Given the description of an element on the screen output the (x, y) to click on. 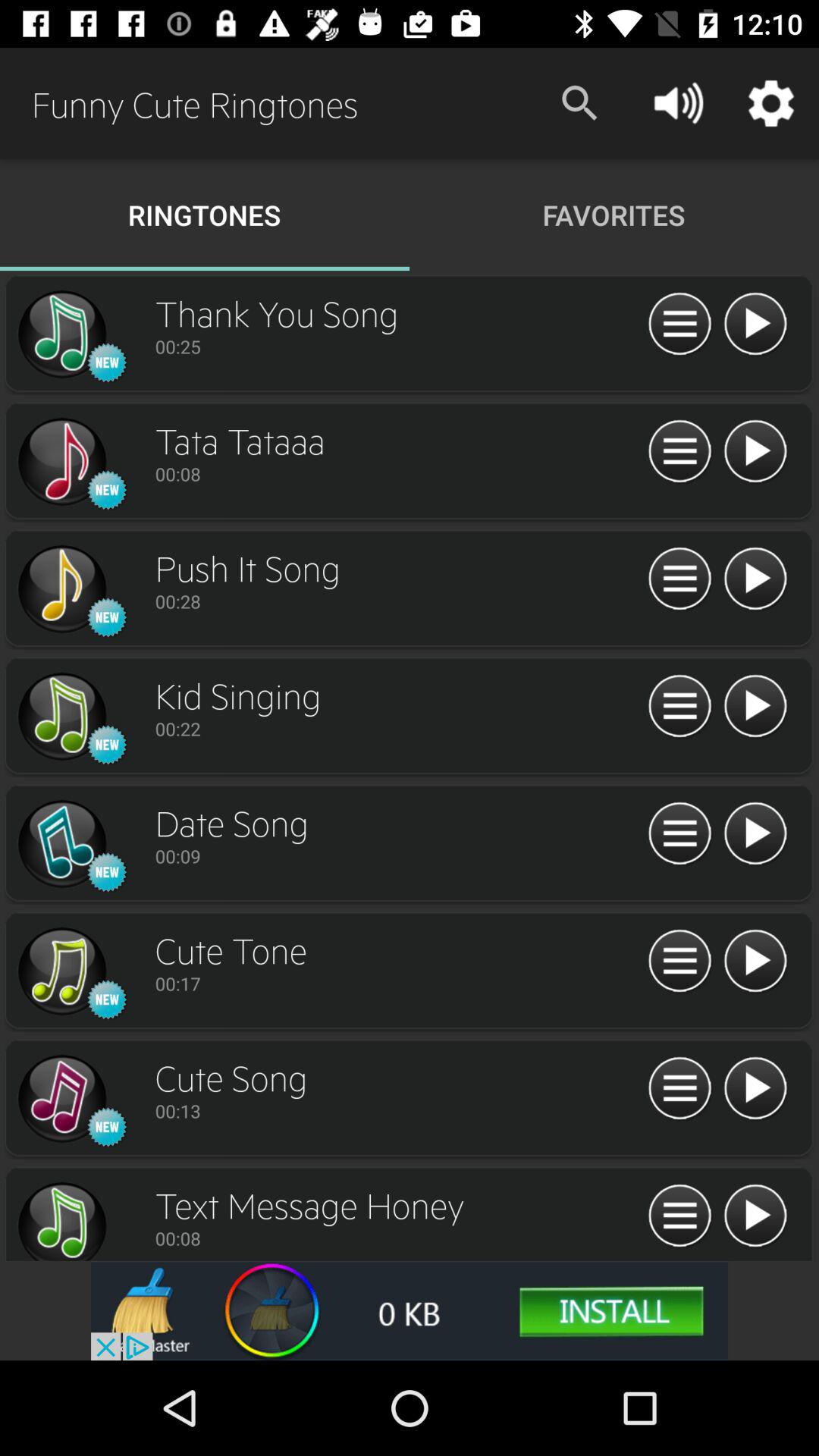
opens description (679, 579)
